Given the description of an element on the screen output the (x, y) to click on. 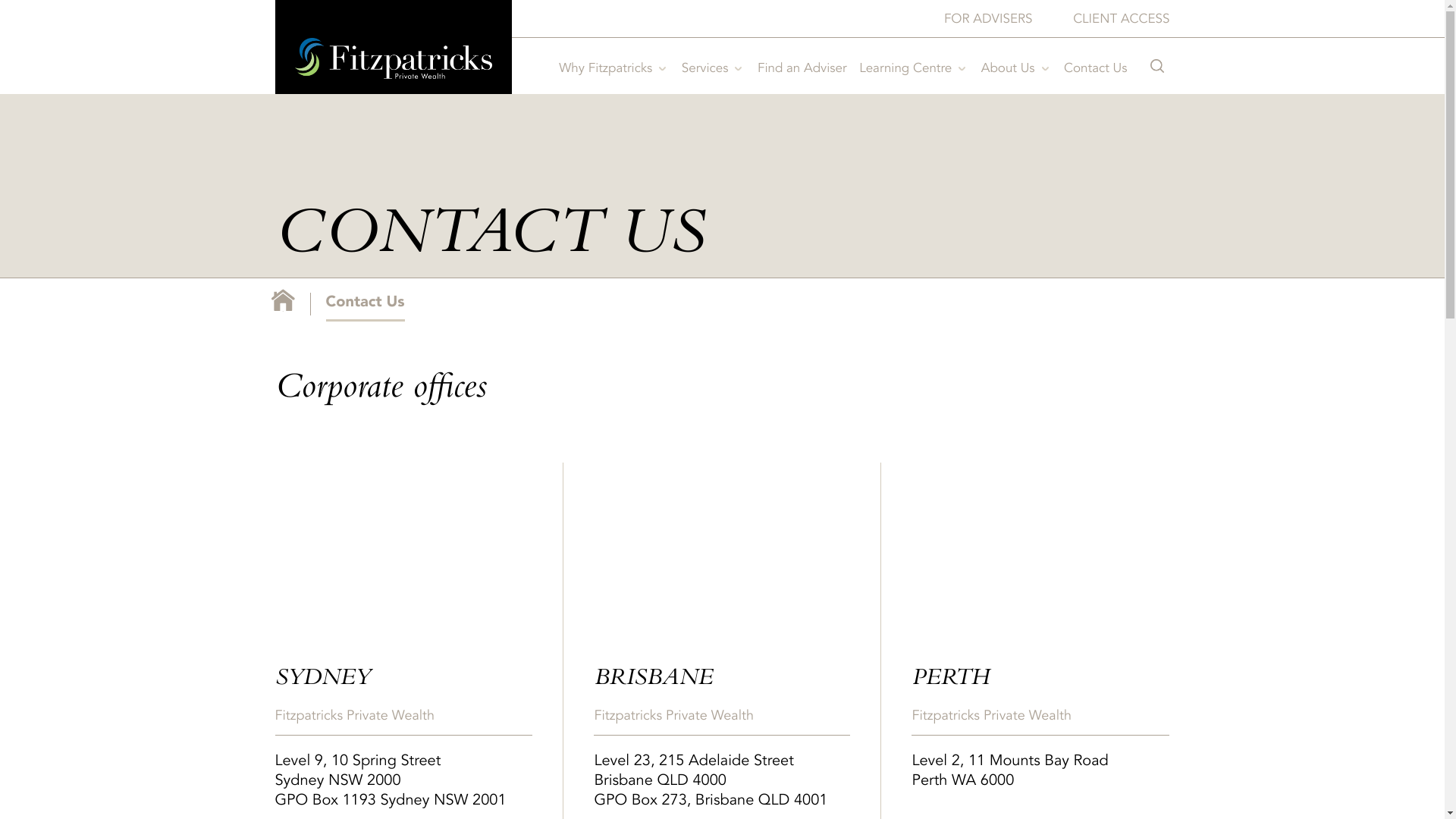
FOR ADVISERS Element type: text (988, 18)
Services Element type: text (709, 66)
Go to Fitzpatricks. Element type: hover (282, 299)
Contact Us Element type: text (1095, 66)
Find an Adviser Element type: text (802, 66)
Learning Centre Element type: text (909, 66)
Why Fitzpatricks Element type: text (609, 66)
CLIENT ACCESS Element type: text (1121, 18)
About Us Element type: text (1012, 66)
